Given the description of an element on the screen output the (x, y) to click on. 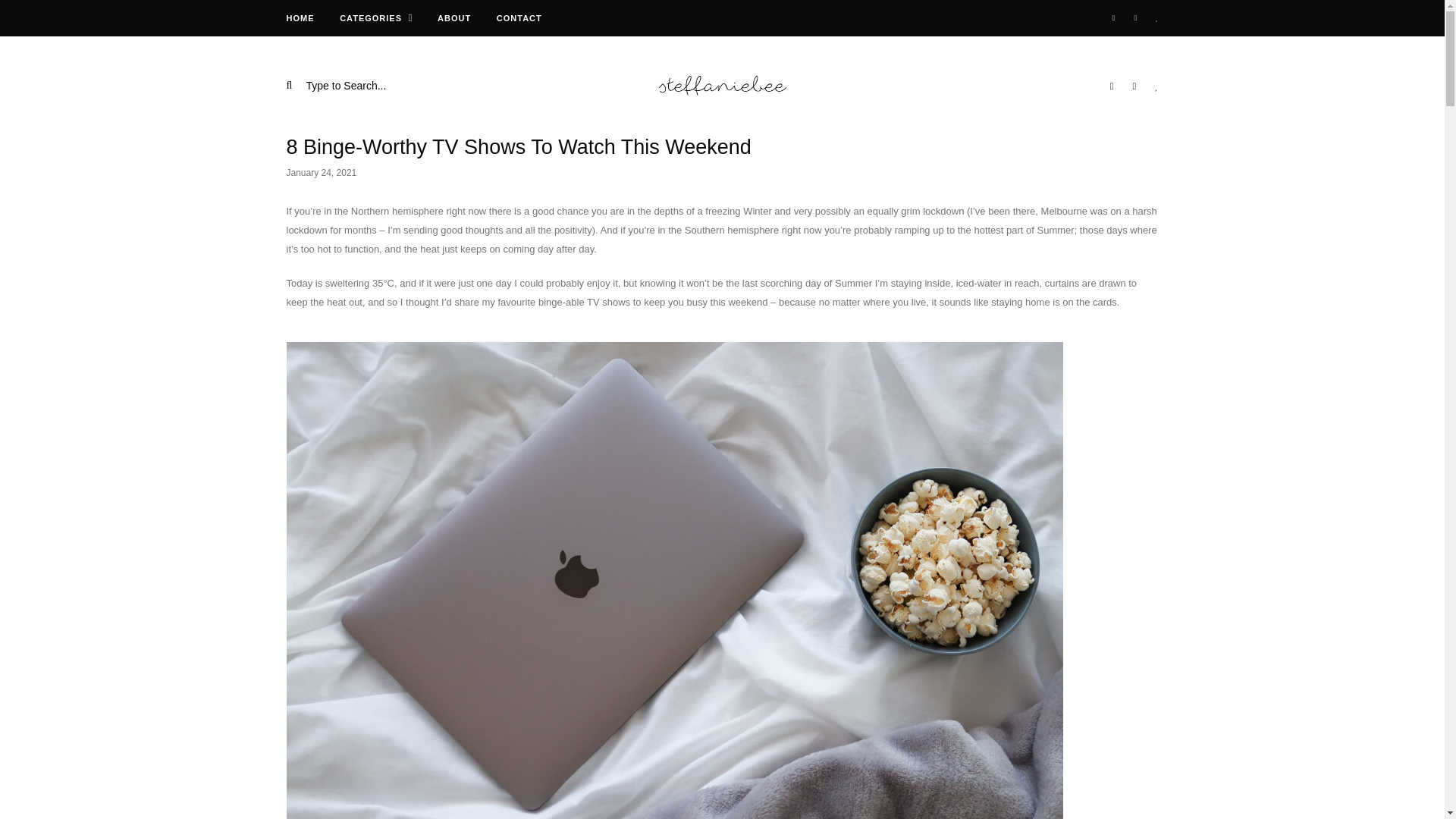
ABOUT (454, 18)
CATEGORIES (370, 18)
CONTACT (518, 18)
